Given the description of an element on the screen output the (x, y) to click on. 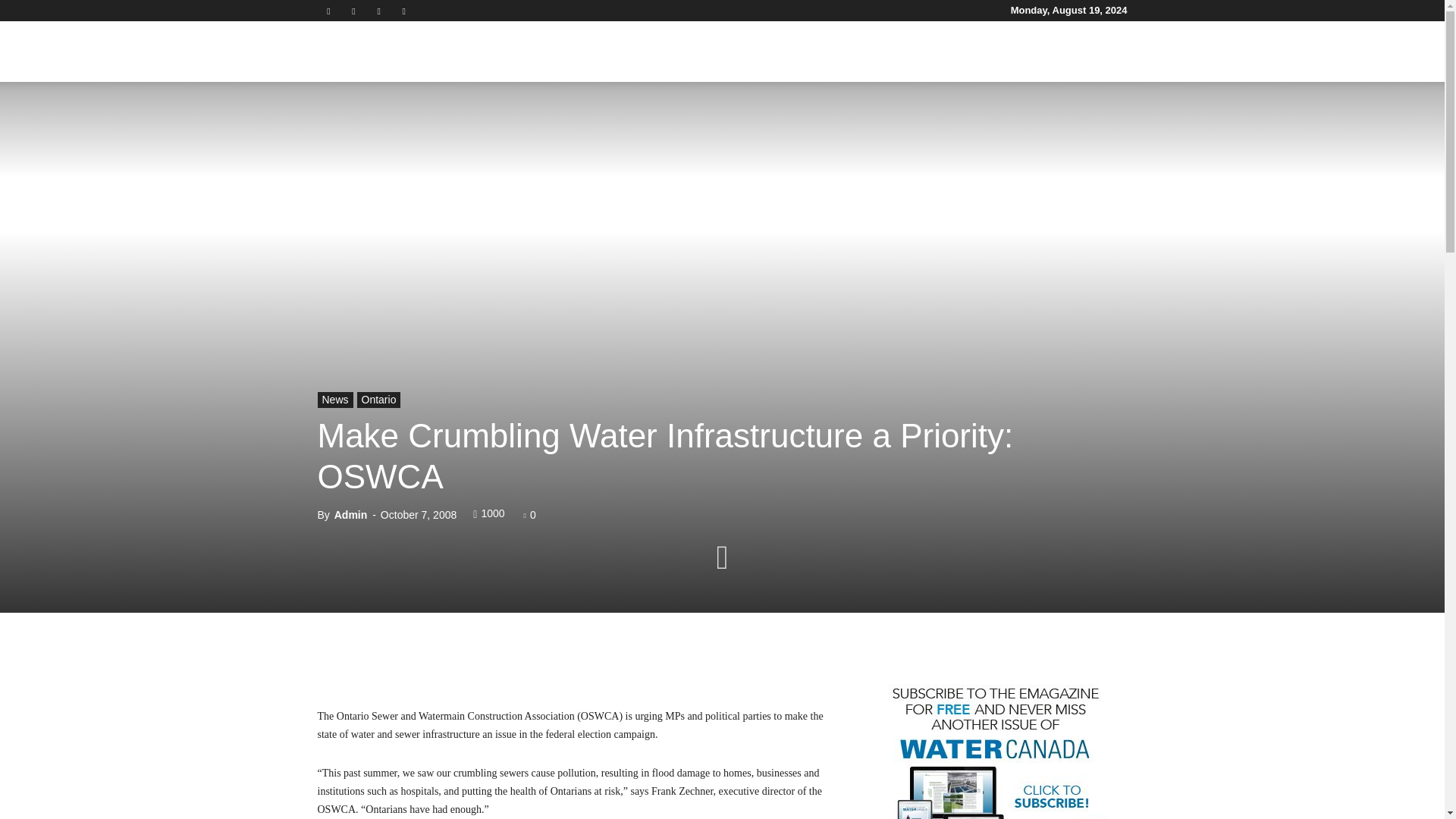
Water Canada (401, 51)
Twitter (379, 10)
Youtube (403, 10)
Linkedin (353, 10)
Search (1085, 124)
Facebook (328, 10)
